Given the description of an element on the screen output the (x, y) to click on. 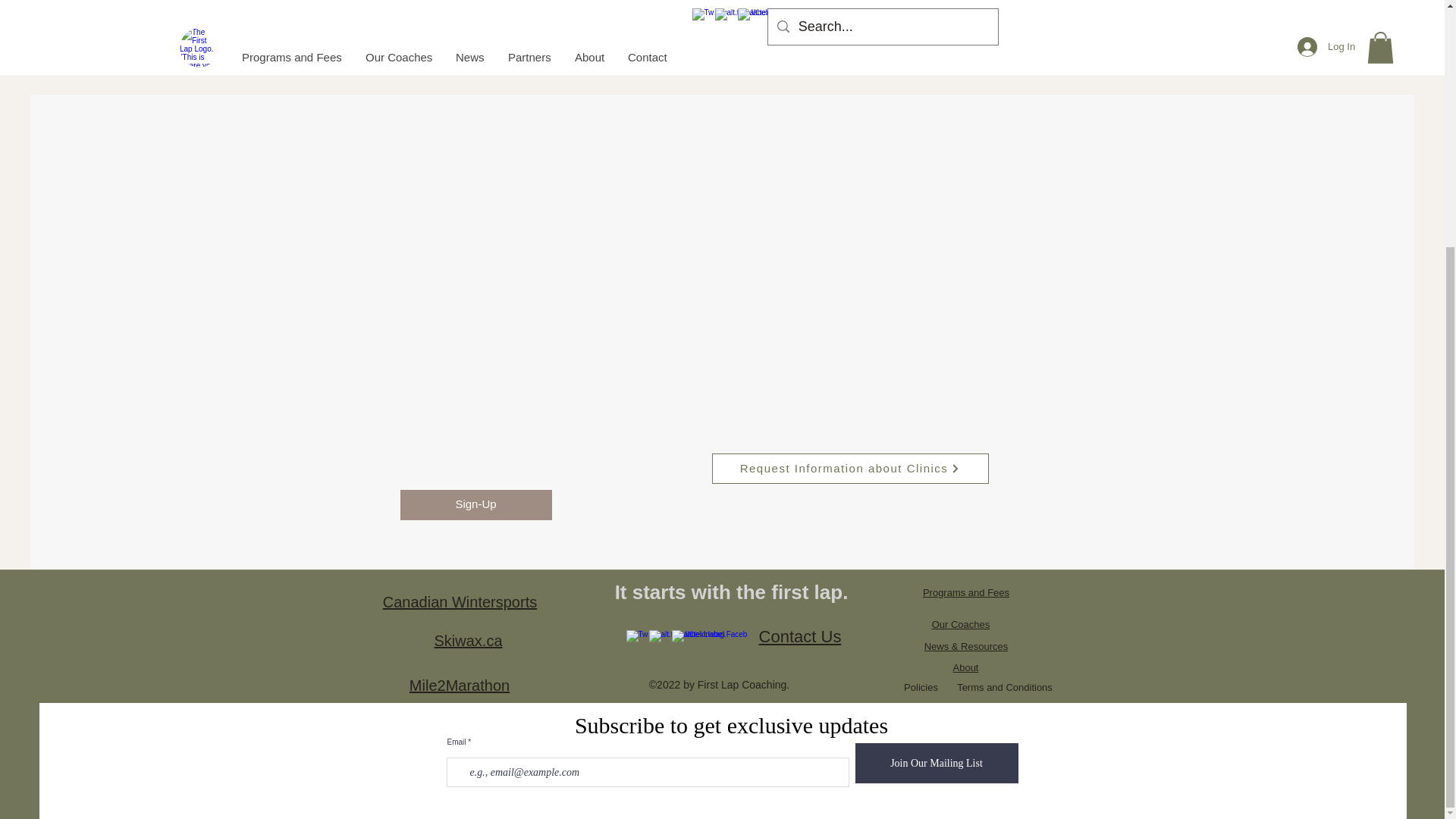
Sign-Up (475, 504)
Mile2Marathon (459, 685)
Contact Us (799, 636)
Our Coaches (960, 624)
Programs and Fees (966, 592)
Join Our Mailing List (936, 762)
Canadian Wintersports (459, 601)
Skiwax.ca (467, 640)
About (965, 667)
Request Information about Clinics (849, 468)
